Given the description of an element on the screen output the (x, y) to click on. 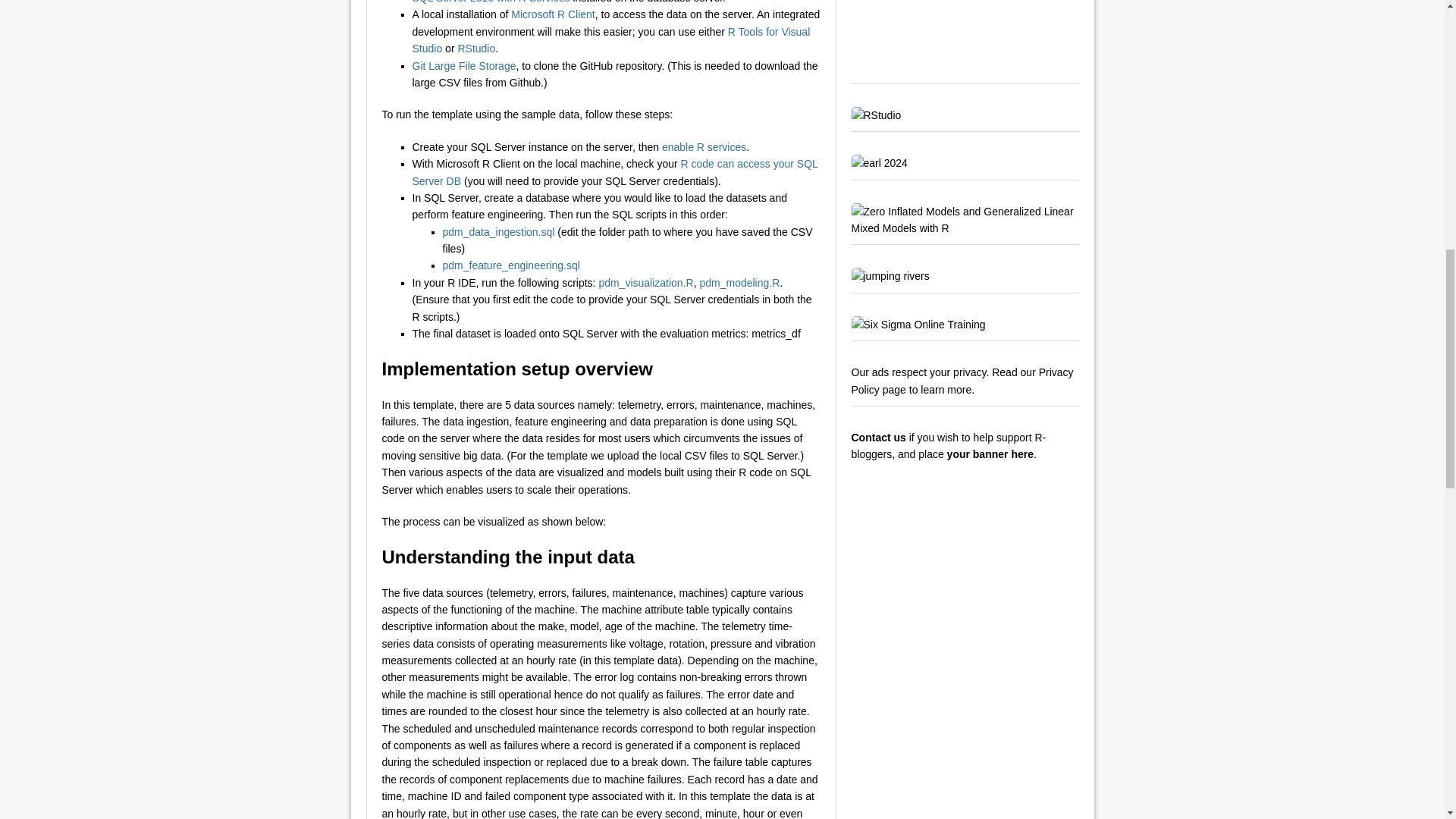
R Tools for Visual Studio (611, 39)
Microsoft R Client (552, 14)
RStudio (476, 48)
Git Large File Storage (464, 65)
enable R services (703, 146)
R code can access your SQL Server DB (615, 172)
SQL Server 2016 with R Services (491, 2)
